Given the description of an element on the screen output the (x, y) to click on. 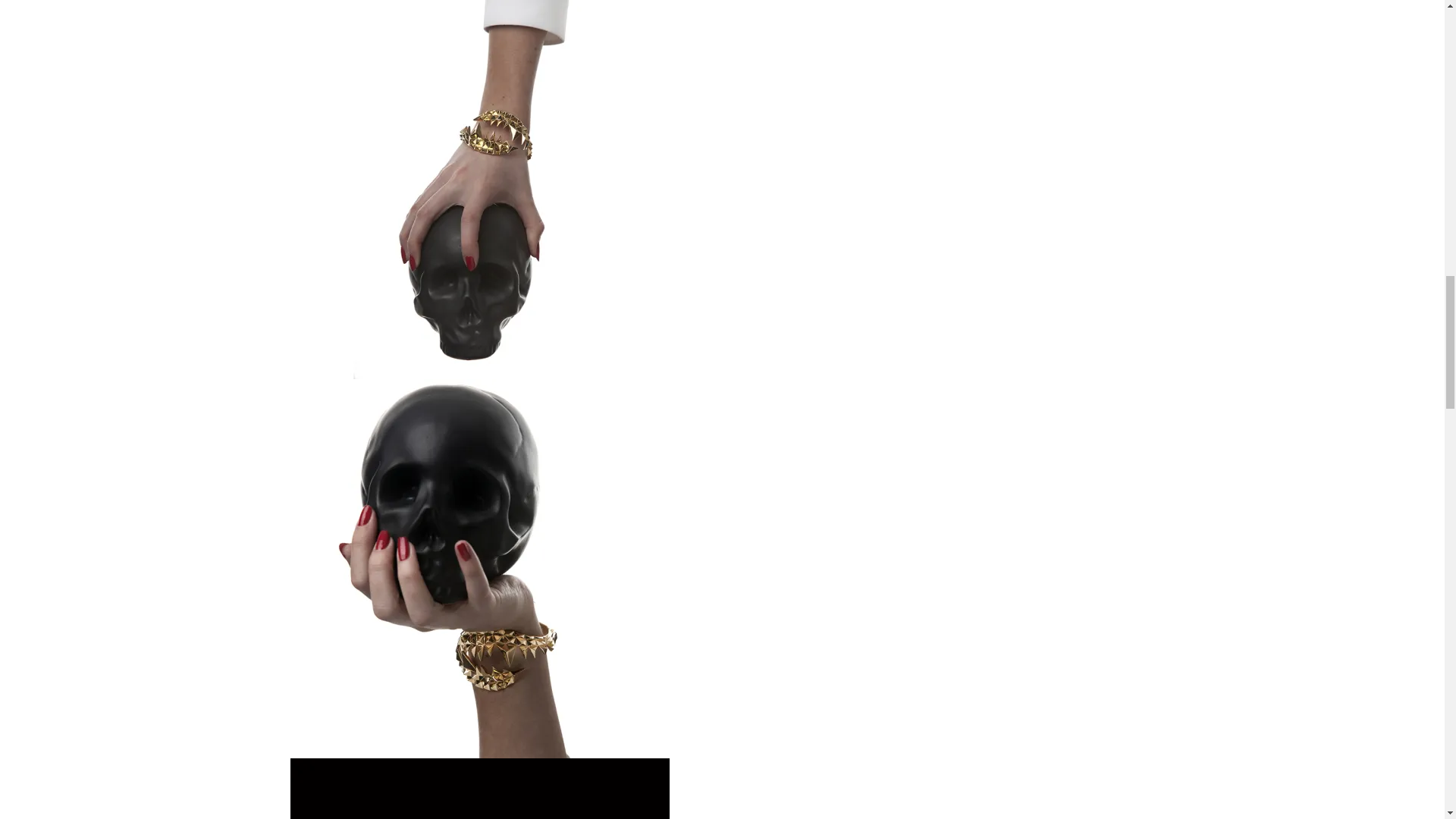
Black Box (478, 788)
